Given the description of an element on the screen output the (x, y) to click on. 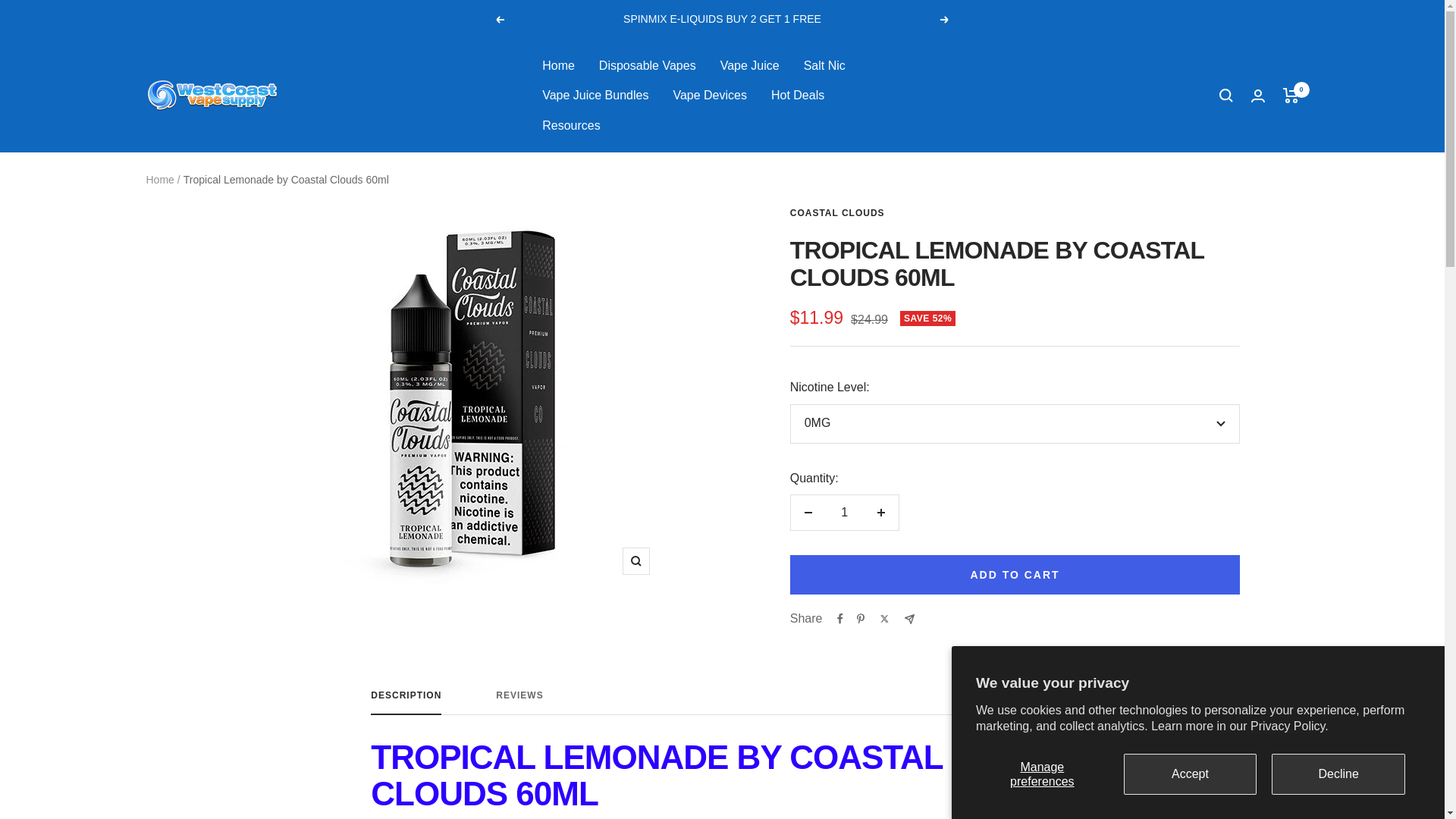
1 (844, 512)
Decrease quantity (807, 512)
Manage preferences (722, 702)
West Coast Vape Supply (1041, 773)
3MG (211, 95)
Decline (1015, 498)
Vape Devices (1338, 773)
Zoom (709, 95)
0 (636, 560)
Vape Juice (1290, 95)
6MG (749, 65)
Disposable Vapes (1015, 531)
Accept (646, 65)
COASTAL CLOUDS (1190, 773)
